Given the description of an element on the screen output the (x, y) to click on. 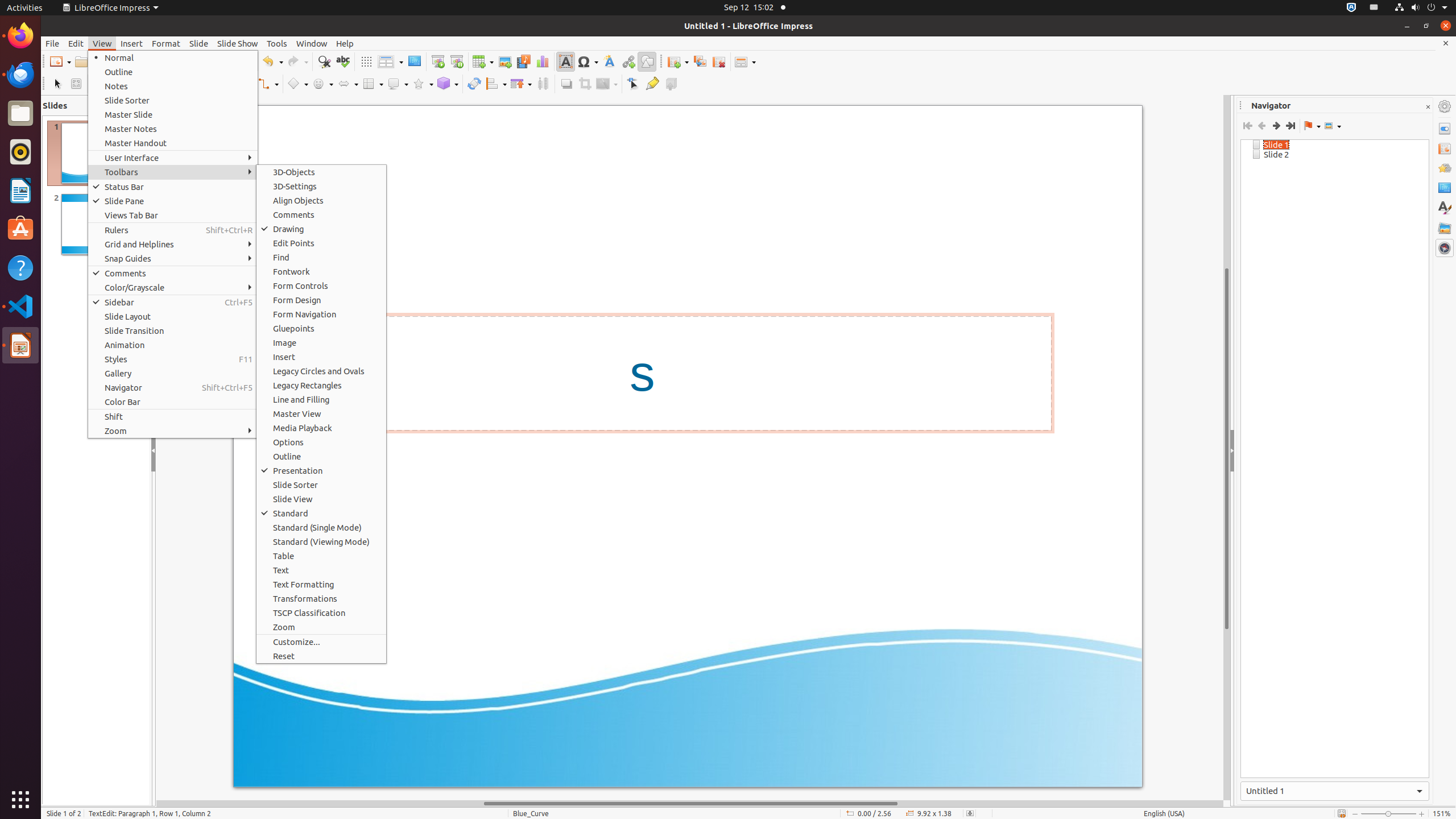
Styles Element type: menu-item (172, 359)
Tools Element type: menu (276, 43)
Notes Element type: radio-menu-item (172, 86)
Edit Element type: menu (75, 43)
Drag Mode Element type: push-button (1311, 125)
